Given the description of an element on the screen output the (x, y) to click on. 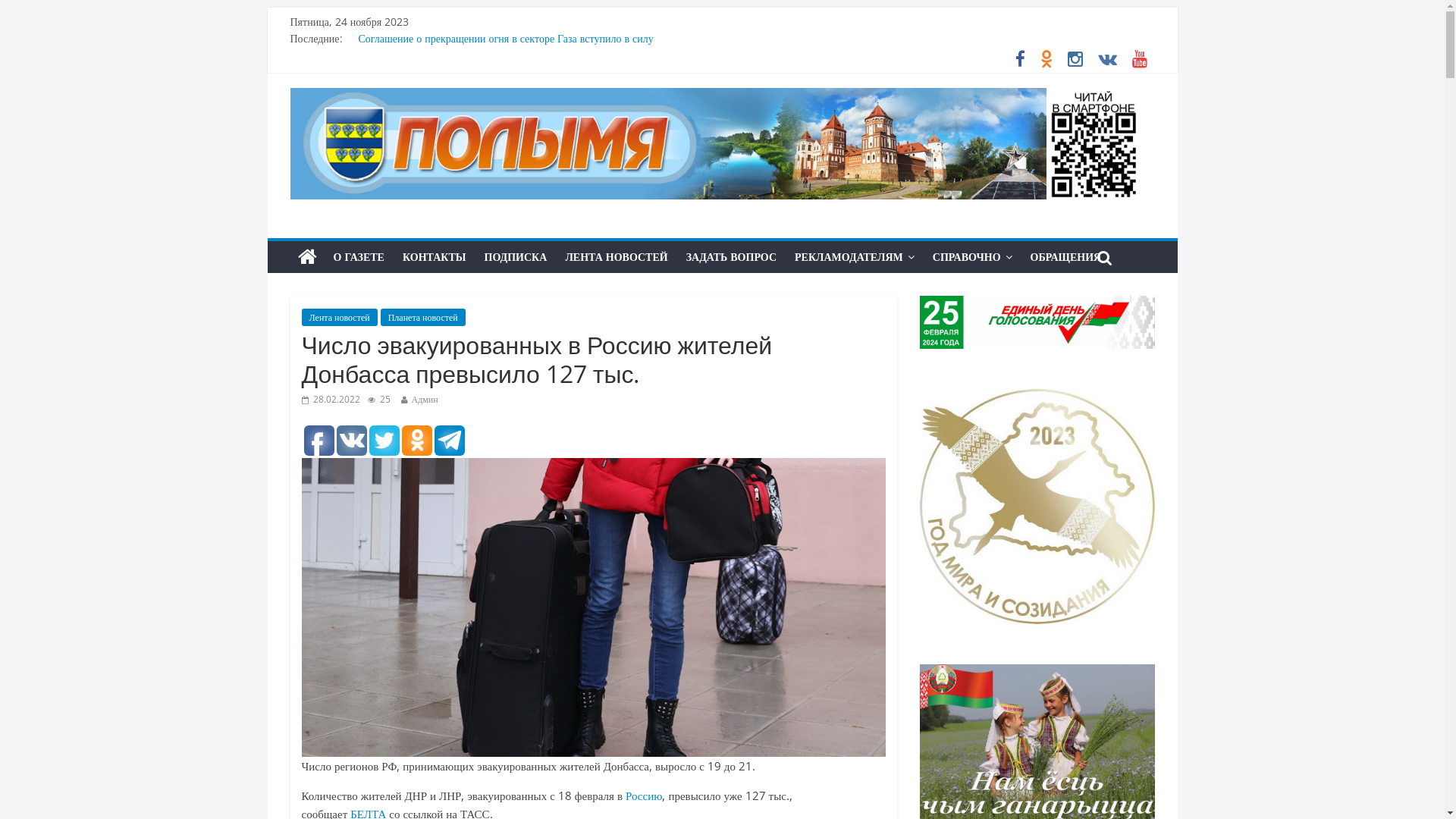
25 Element type: text (378, 398)
28.02.2022 Element type: text (330, 398)
